Given the description of an element on the screen output the (x, y) to click on. 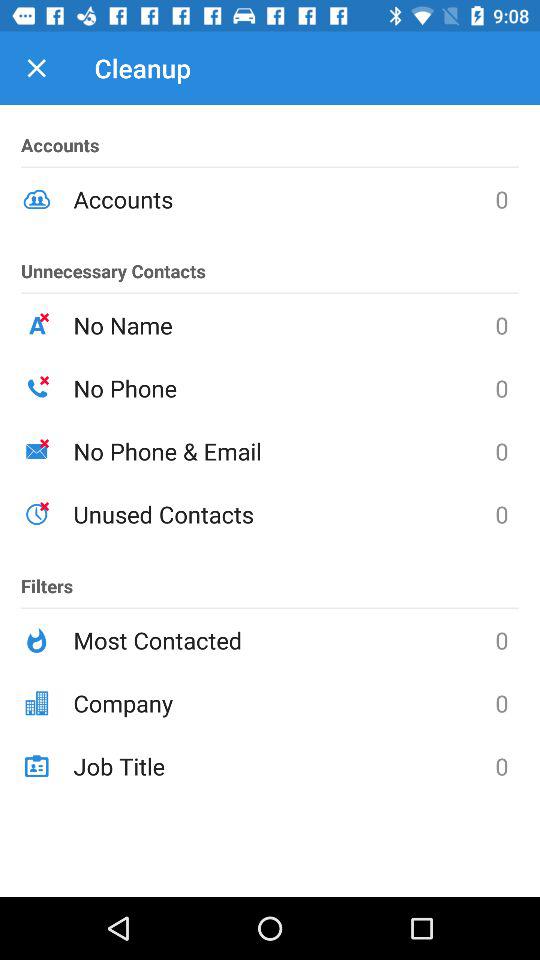
select icon to the left of 0 (284, 325)
